Given the description of an element on the screen output the (x, y) to click on. 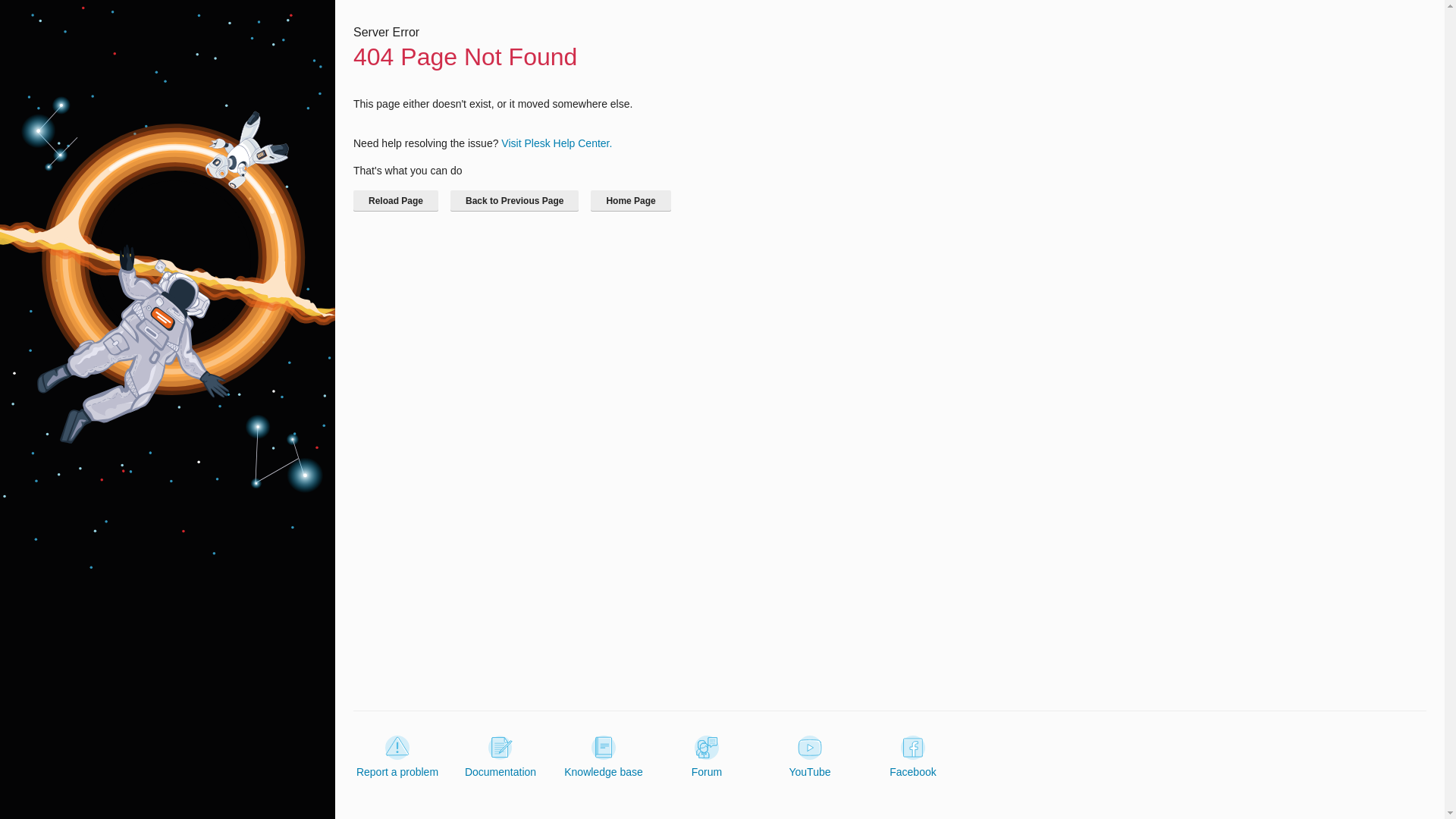
Back to Previous Page (513, 200)
Report a problem (397, 757)
Forum (706, 757)
YouTube (809, 757)
Visit Plesk Help Center. (555, 143)
Reload Page (395, 200)
Facebook (912, 757)
Home Page (630, 200)
Knowledge base (603, 757)
Documentation (500, 757)
